Given the description of an element on the screen output the (x, y) to click on. 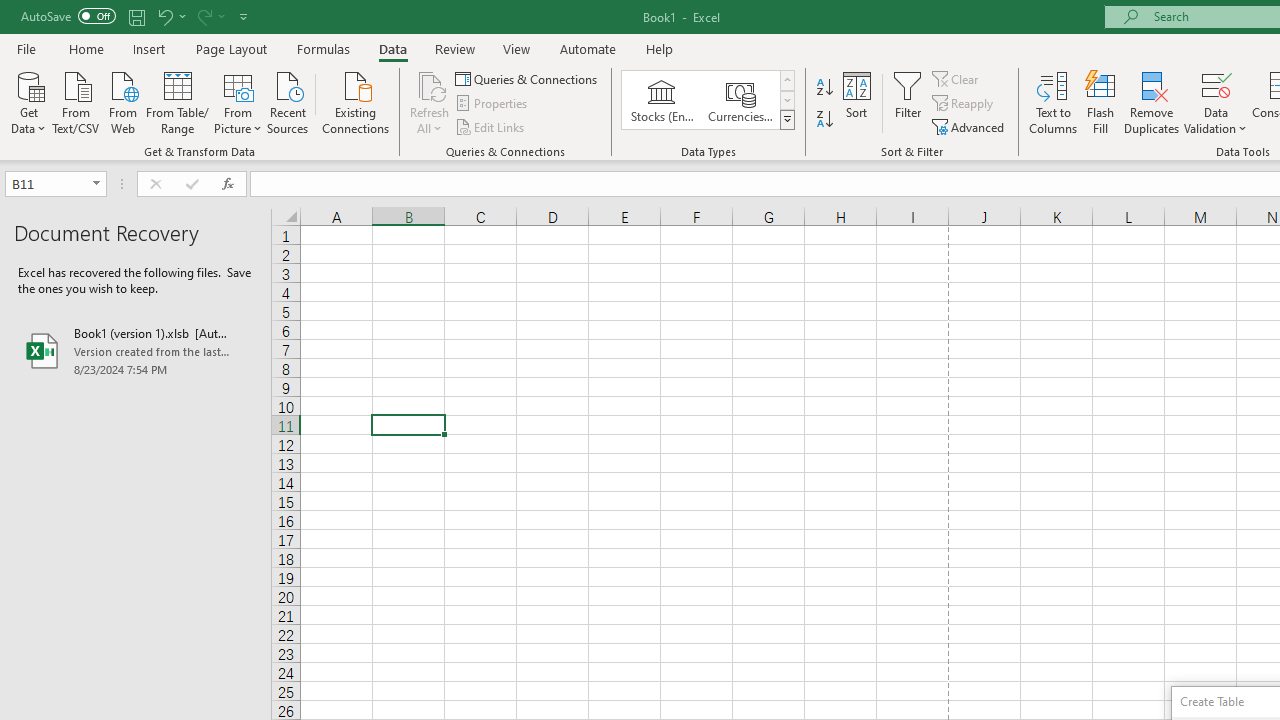
Clear (957, 78)
Refresh All (429, 84)
Save (136, 15)
Automate (588, 48)
Row Down (786, 100)
Help (660, 48)
Sort Z to A (824, 119)
AutoSave (68, 16)
File Tab (26, 48)
Refresh All (429, 102)
Sort... (856, 102)
